Given the description of an element on the screen output the (x, y) to click on. 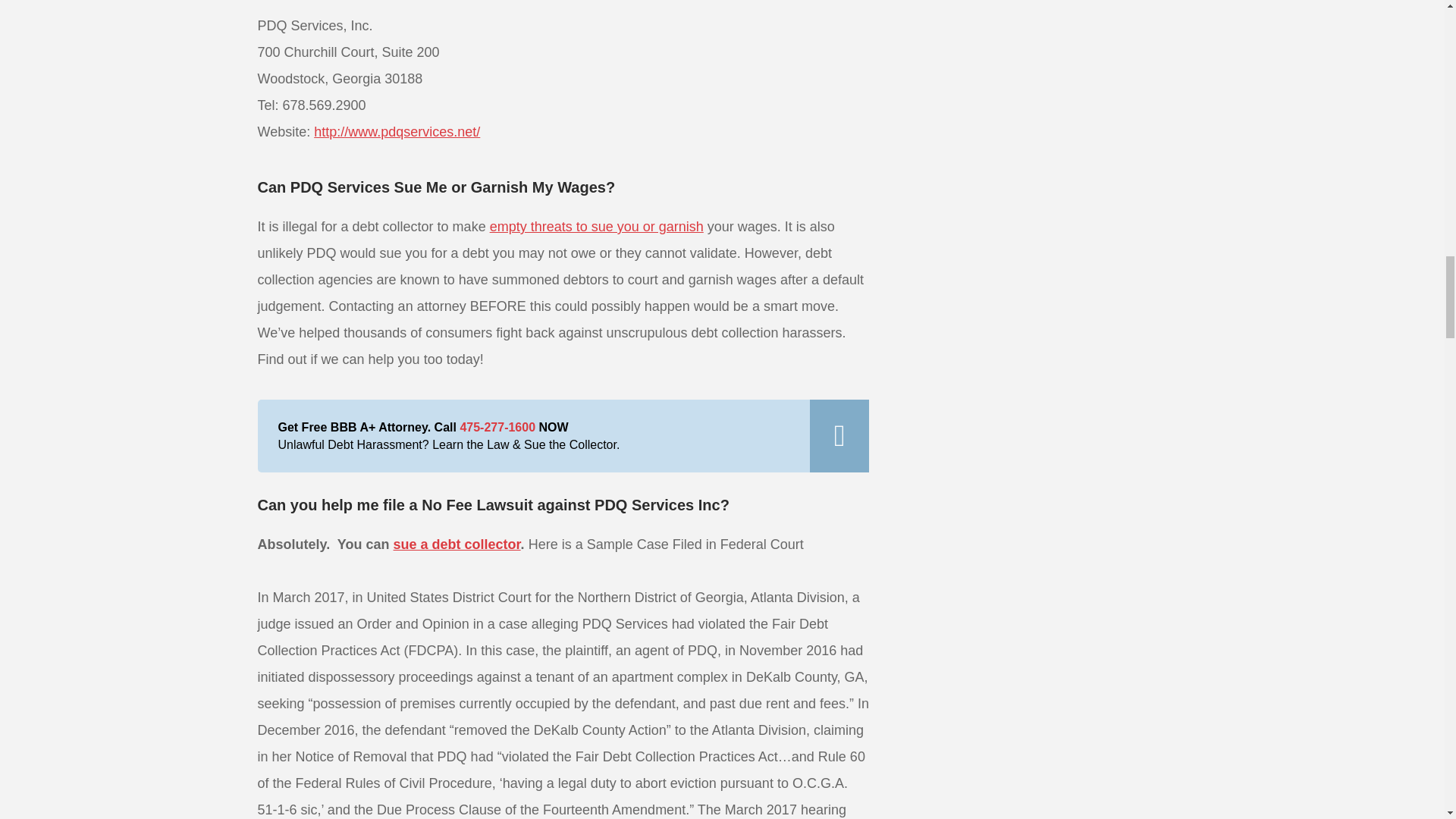
475-277-1600 (497, 427)
sue a debt collector (457, 544)
empty threats to sue you or garnish (596, 226)
